Given the description of an element on the screen output the (x, y) to click on. 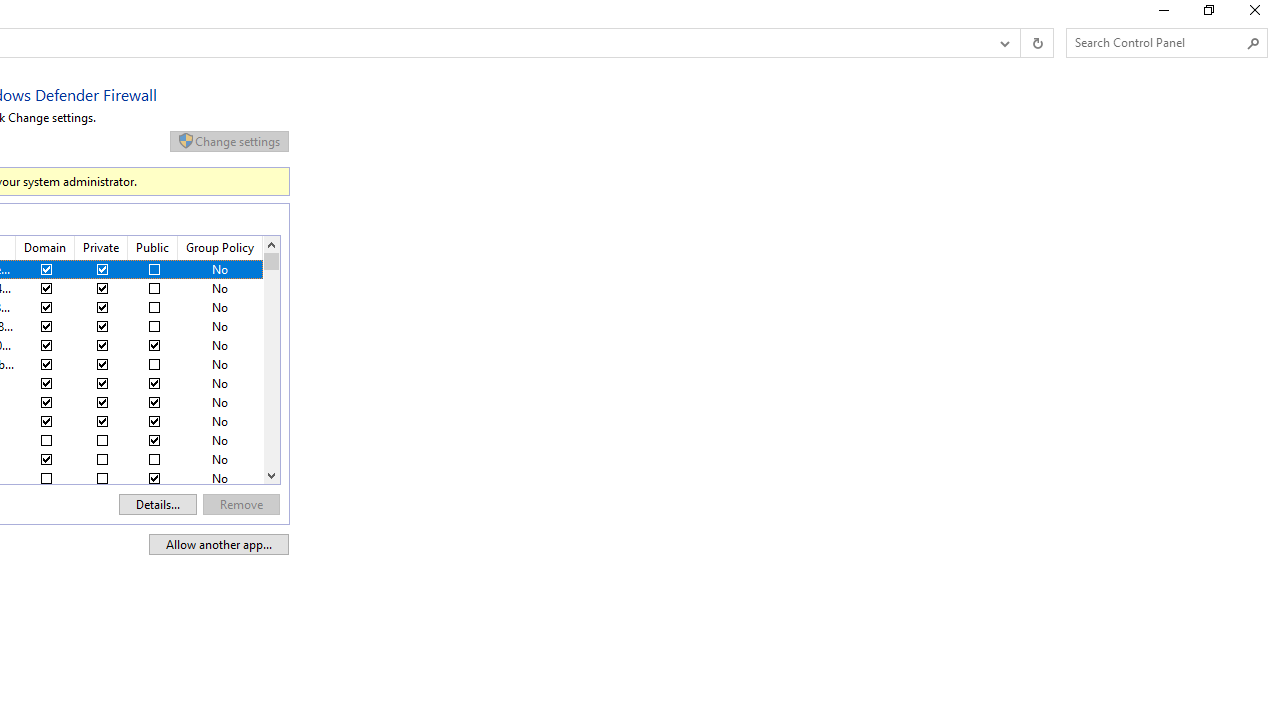
Vertical (271, 359)
Allow another app... (219, 543)
Change settings (229, 141)
Minimize (1162, 14)
Refresh "Allowed apps" (F5) (1036, 43)
Line down (271, 475)
Search (1253, 43)
Restore (1208, 14)
Search Box (1156, 42)
Line up (271, 244)
Details... (157, 504)
Remove (241, 504)
Page down (271, 365)
Address band toolbar (1019, 43)
Previous Locations (1003, 43)
